Given the description of an element on the screen output the (x, y) to click on. 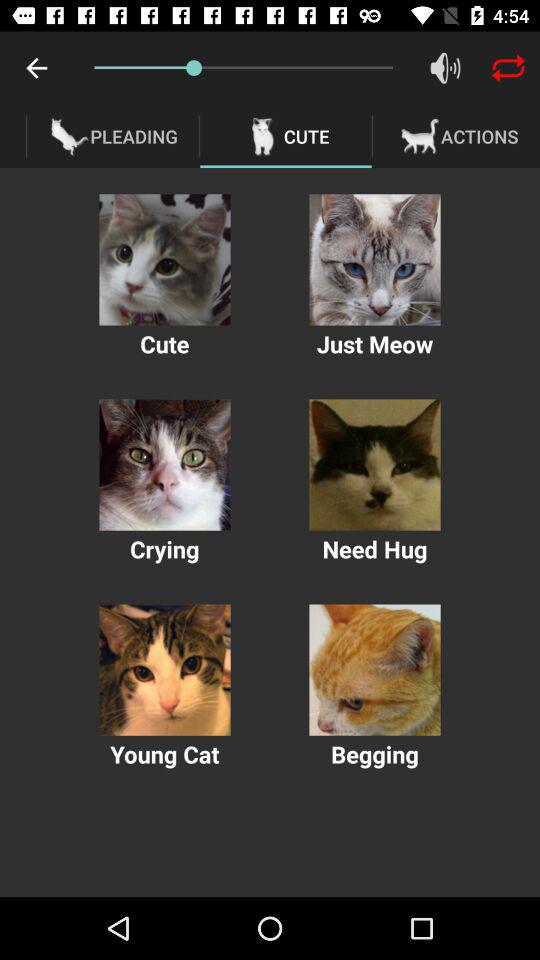
select this item (374, 464)
